Given the description of an element on the screen output the (x, y) to click on. 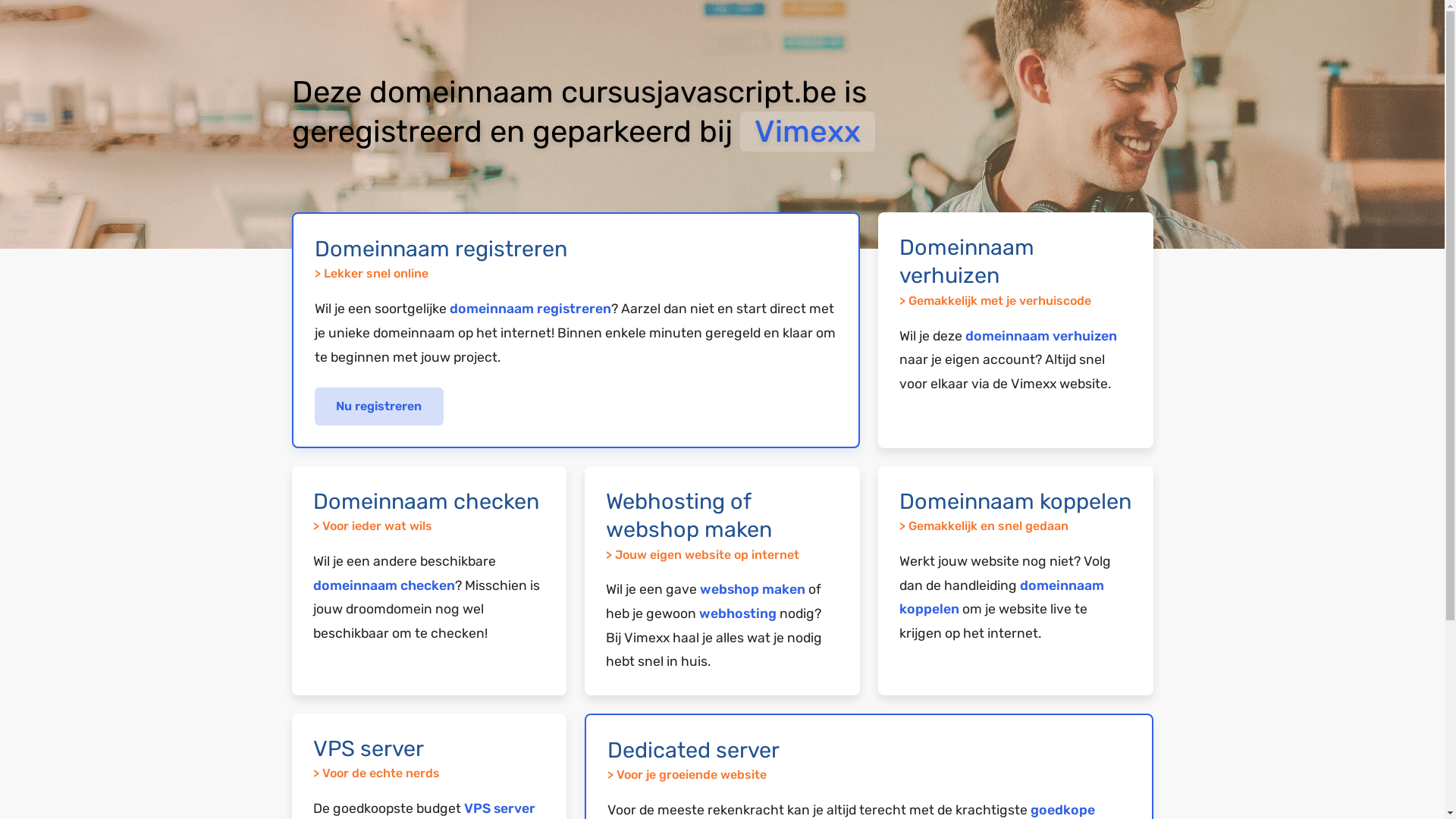
domeinnaam registreren Element type: text (529, 308)
domeinnaam checken Element type: text (383, 585)
Nu registreren Element type: text (378, 406)
domeinnaam koppelen Element type: text (1001, 597)
webhosting Element type: text (737, 613)
Vimexx Element type: text (807, 131)
webshop maken Element type: text (752, 588)
VPS server Element type: text (499, 807)
domeinnaam verhuizen Element type: text (1041, 335)
